Given the description of an element on the screen output the (x, y) to click on. 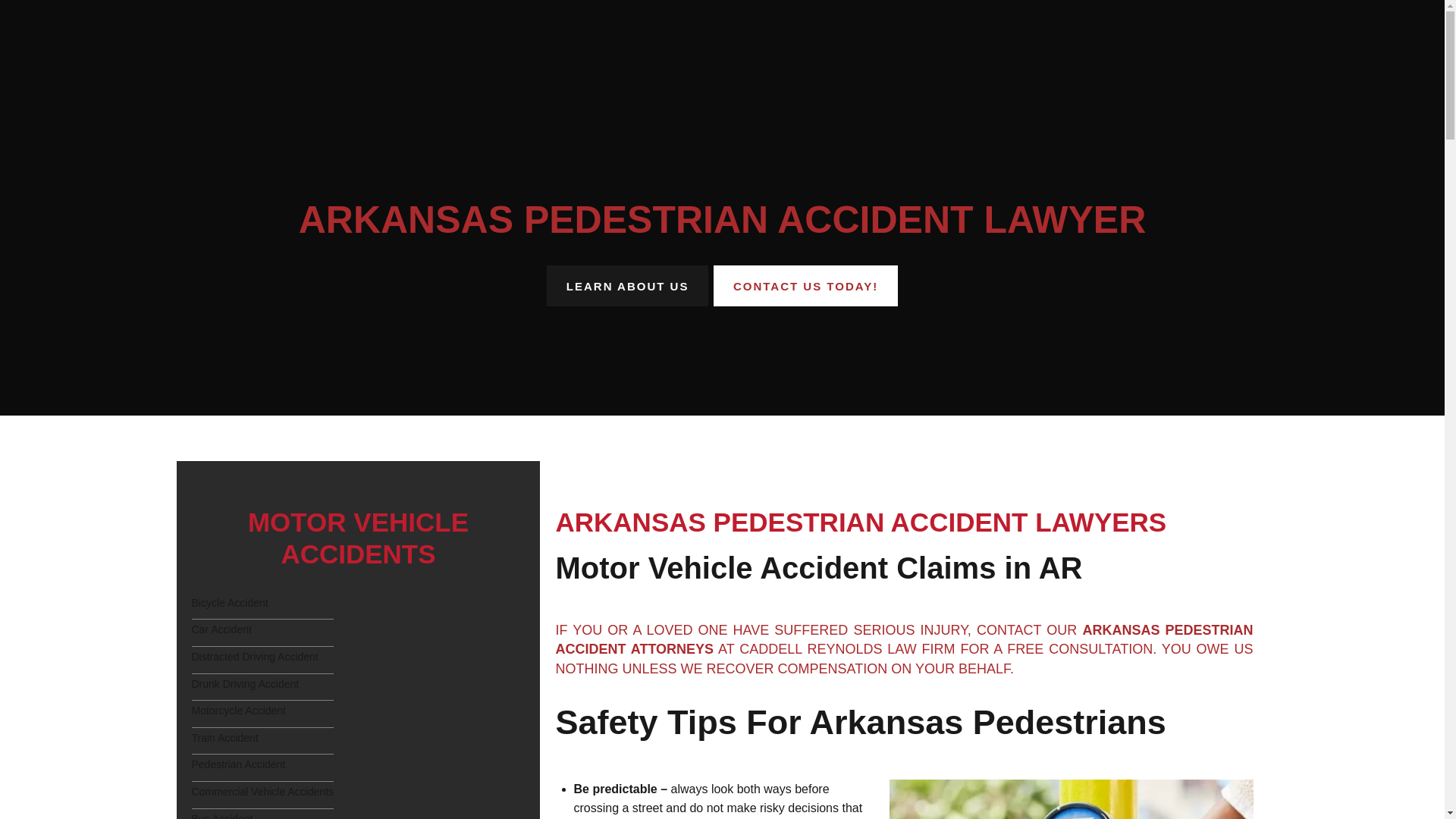
MOTOR VEHICLE ACCIDENTS (357, 537)
CONTACT US TODAY! (804, 285)
LEARN ABOUT US (627, 285)
